Given the description of an element on the screen output the (x, y) to click on. 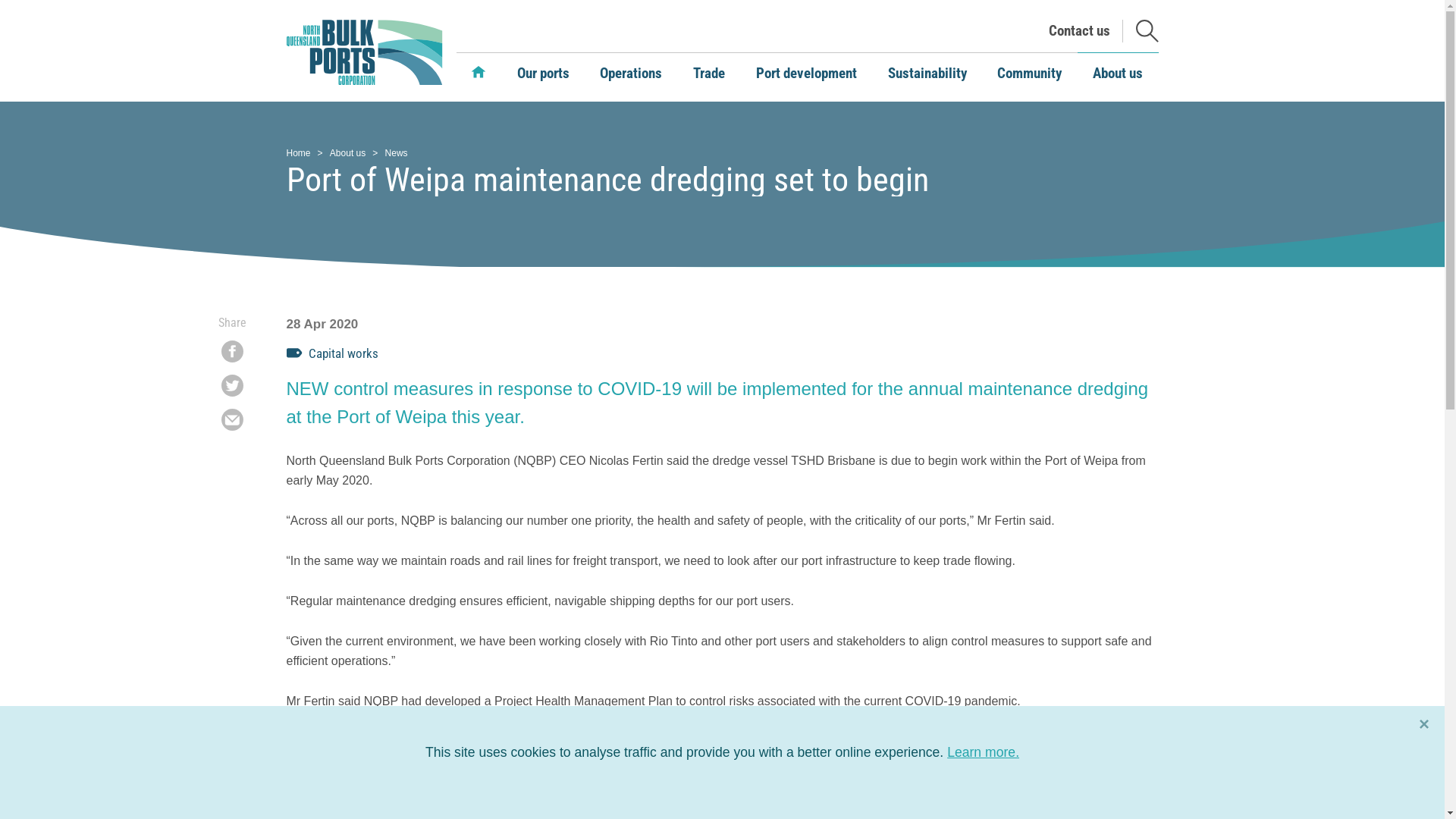
Share on Twitter Element type: text (232, 387)
About us Element type: text (347, 152)
Learn more. Element type: text (983, 751)
Share on Facebook Element type: text (232, 353)
About us Element type: text (1117, 73)
Home Element type: text (298, 152)
News Element type: text (396, 152)
Contact us Element type: text (1078, 31)
Capital works Element type: text (332, 354)
Sustainability Element type: text (927, 73)
Trade Element type: text (708, 73)
Operations Element type: text (630, 73)
Home Element type: text (479, 72)
Port development Element type: text (806, 73)
Our ports Element type: text (542, 73)
Community Element type: text (1029, 73)
Share by Email Element type: text (232, 421)
